Given the description of an element on the screen output the (x, y) to click on. 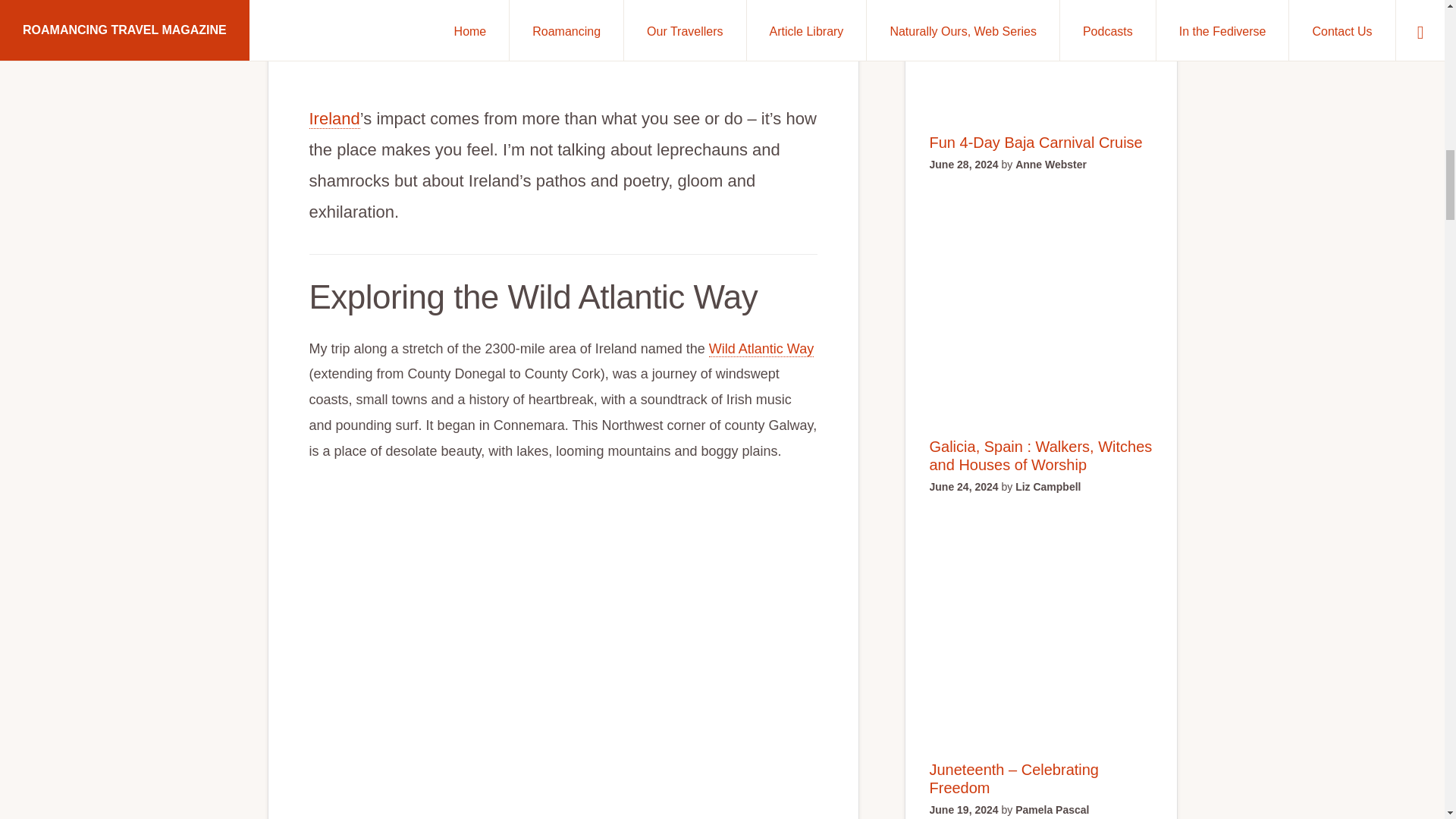
Ireland (333, 118)
Wild Atlantic Way (761, 349)
Larah Vidotto (659, 45)
